Given the description of an element on the screen output the (x, y) to click on. 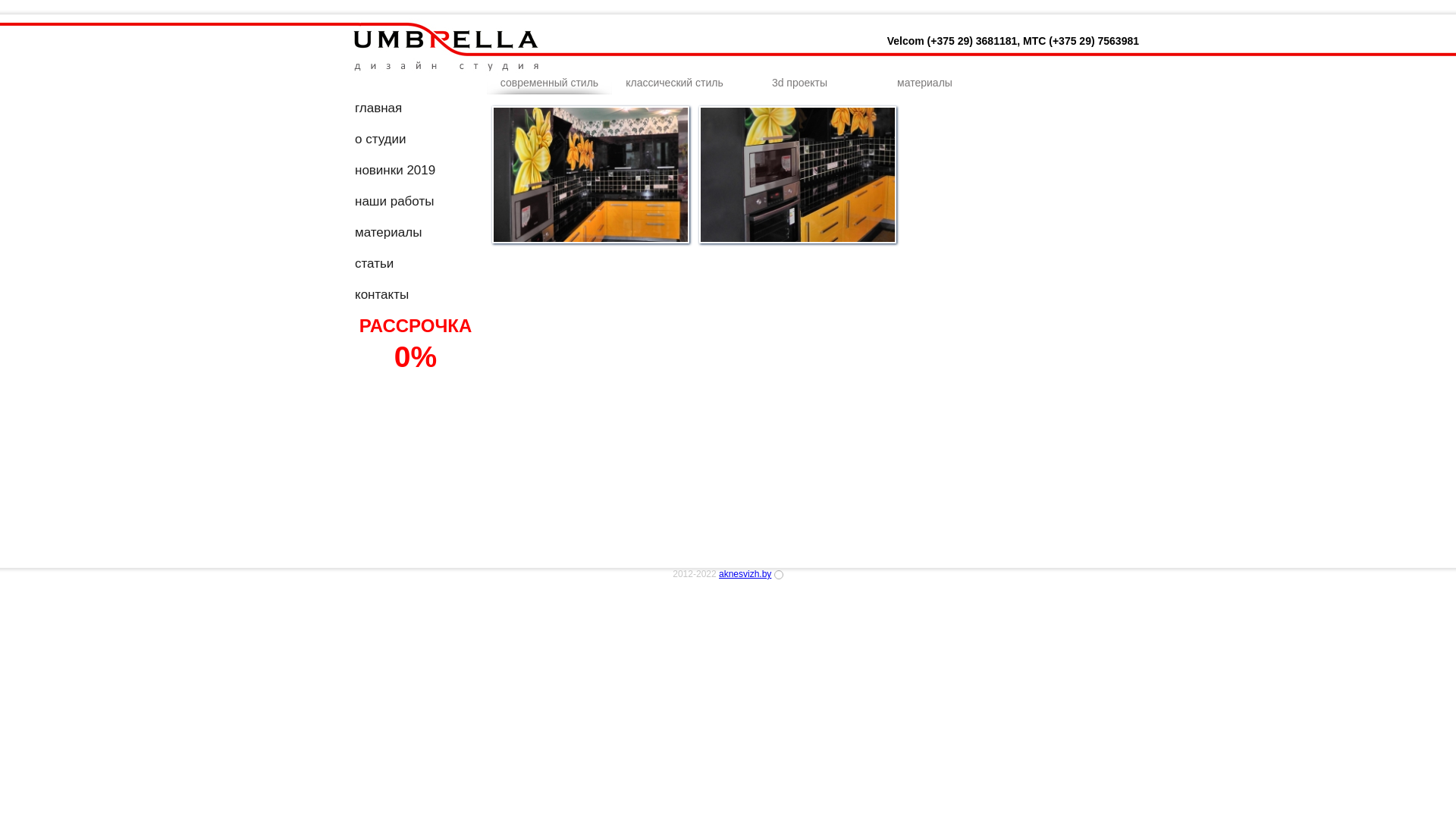
s12500011 Element type: hover (797, 174)
123 Element type: hover (589, 174)
  Element type: hover (797, 240)
  Element type: hover (589, 240)
aknesvizh.by Element type: text (744, 573)
